Given the description of an element on the screen output the (x, y) to click on. 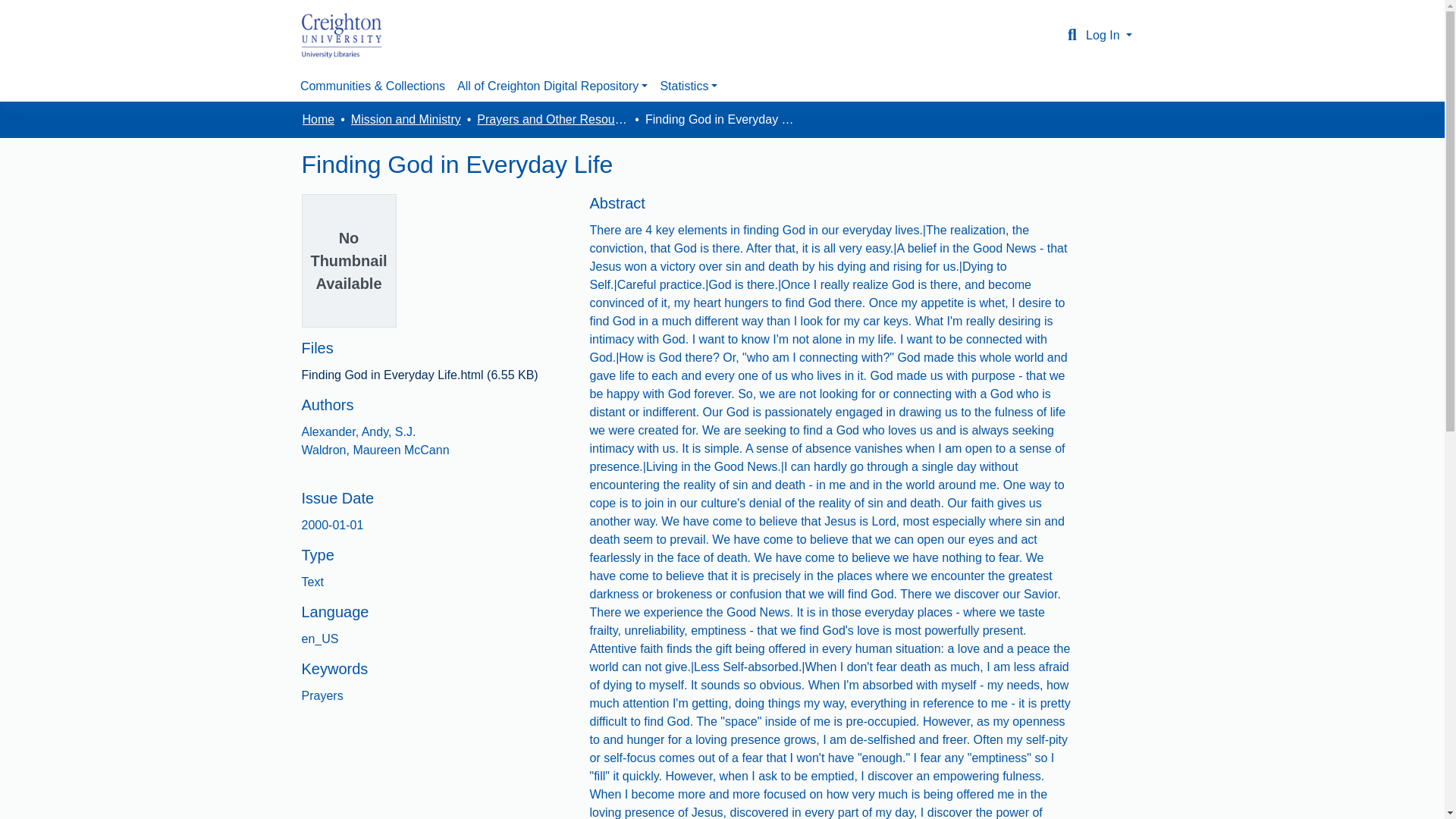
Log In (1108, 34)
All of Creighton Digital Repository (552, 86)
Mission and Ministry (405, 119)
Prayers and Other Resources (552, 119)
Search (1072, 35)
Home (317, 119)
Statistics (688, 86)
